Given the description of an element on the screen output the (x, y) to click on. 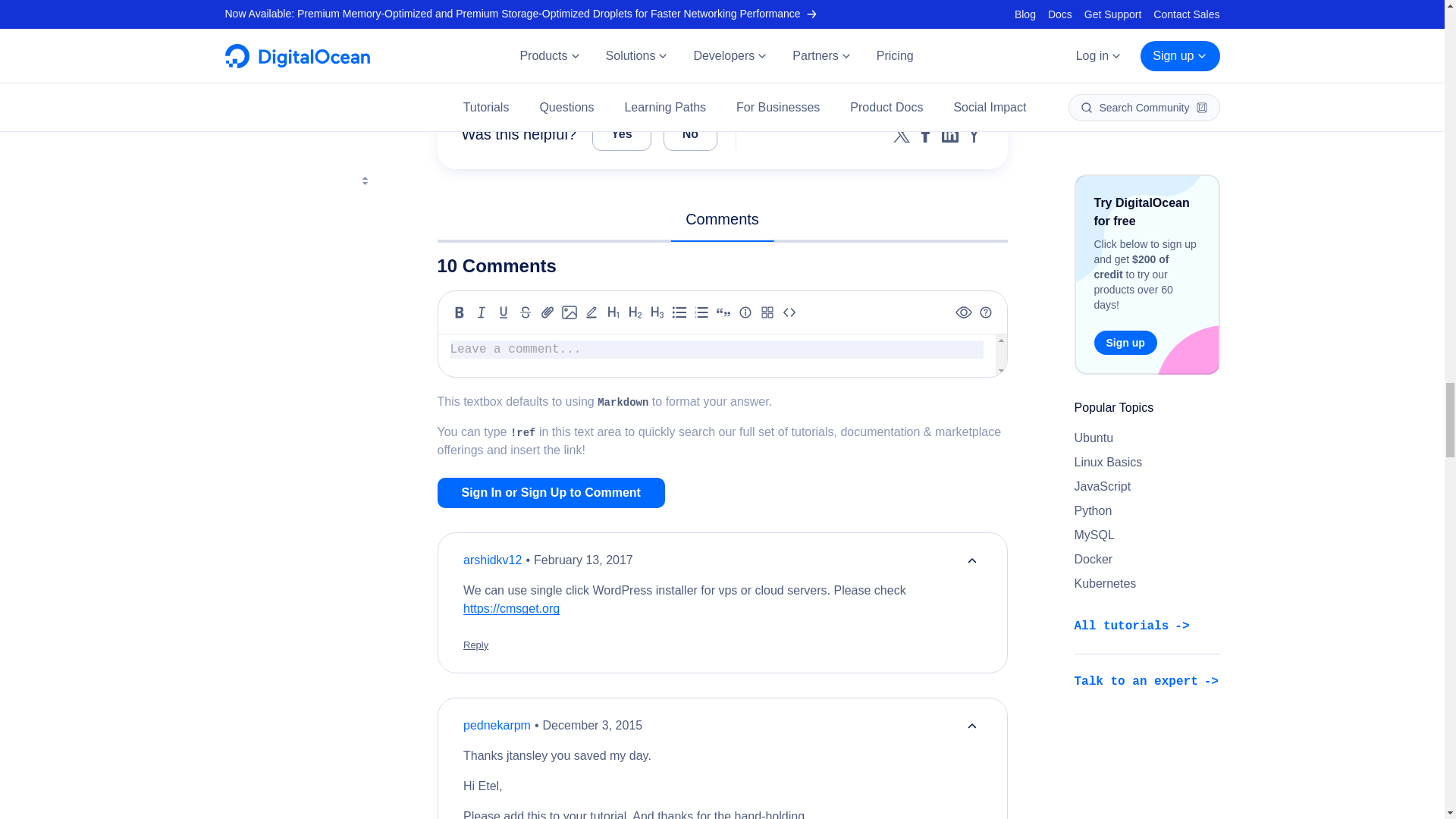
Share to Facebook (924, 134)
Heading 2 (635, 312)
Heading 3 (656, 312)
Share to LinkedIn (949, 134)
Highlight (590, 312)
Image (568, 312)
Unordered list (678, 312)
Strikethrough (524, 312)
Share to YCombinator (972, 134)
Ordered list (700, 312)
Link (547, 312)
Heading 1 (612, 312)
Bold (458, 312)
Underline (503, 312)
Italic (480, 312)
